Given the description of an element on the screen output the (x, y) to click on. 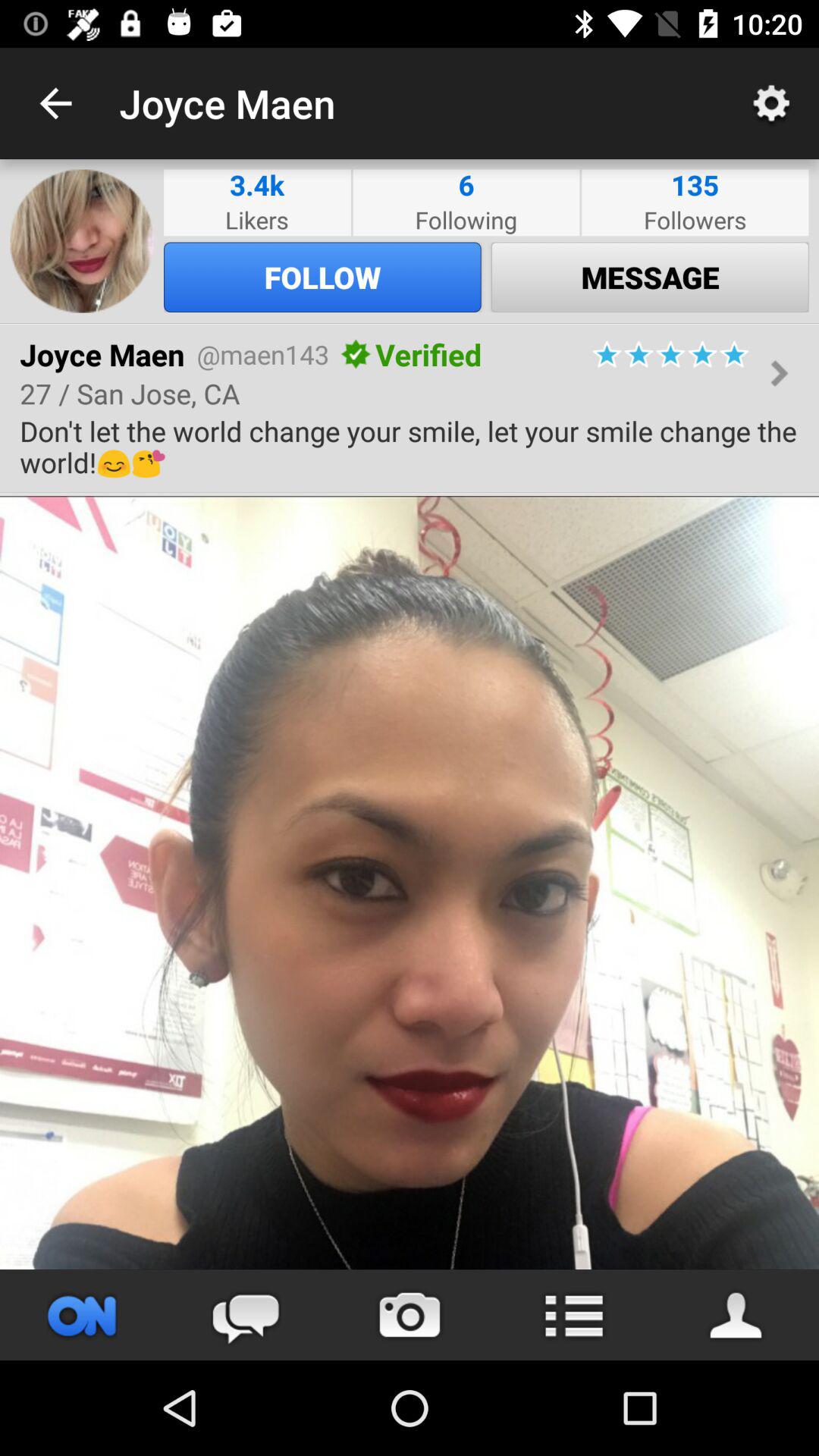
select the icon to the left of joyce maen icon (55, 103)
